Given the description of an element on the screen output the (x, y) to click on. 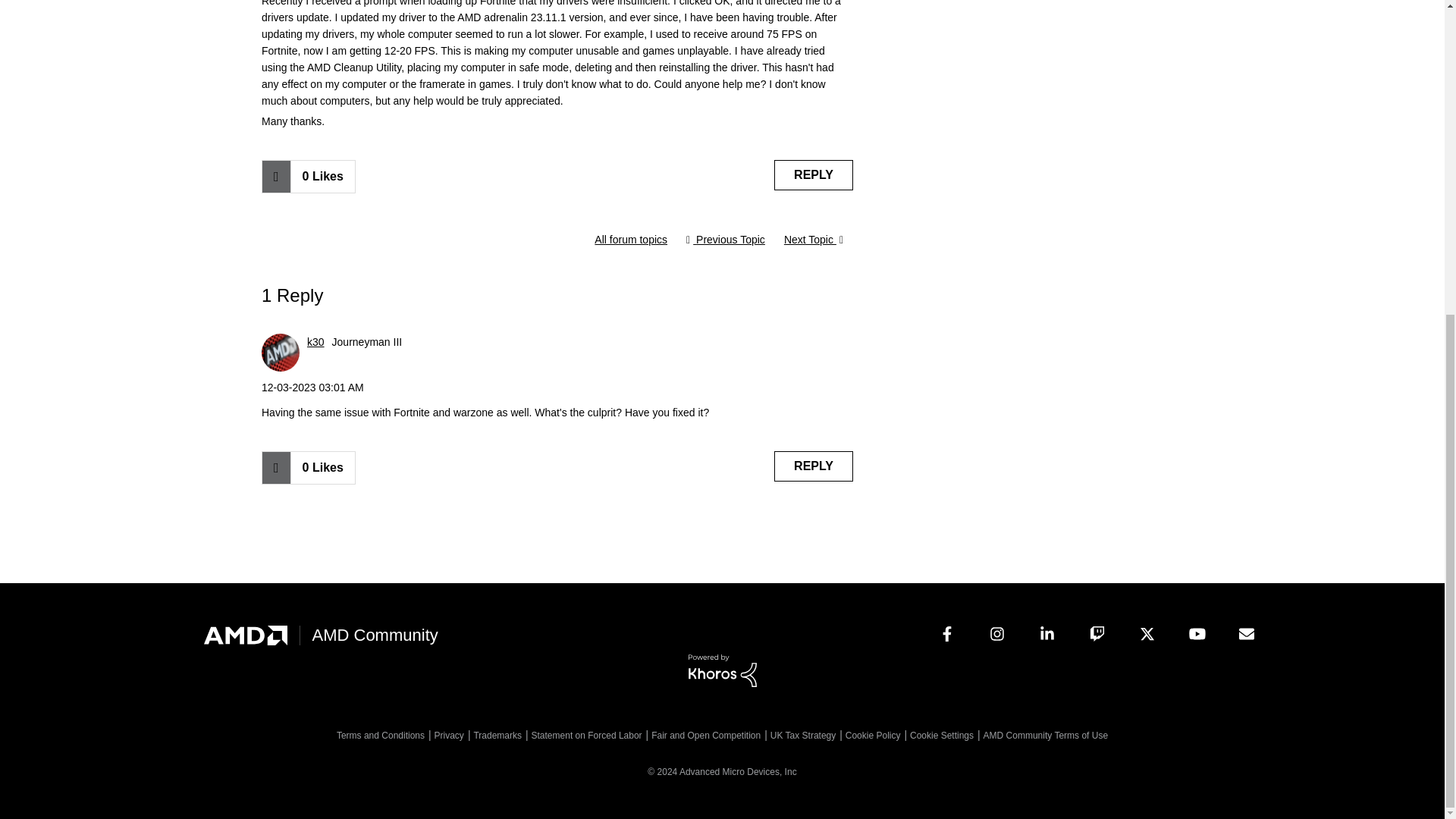
The total number of likes this post has received. (322, 176)
